Given the description of an element on the screen output the (x, y) to click on. 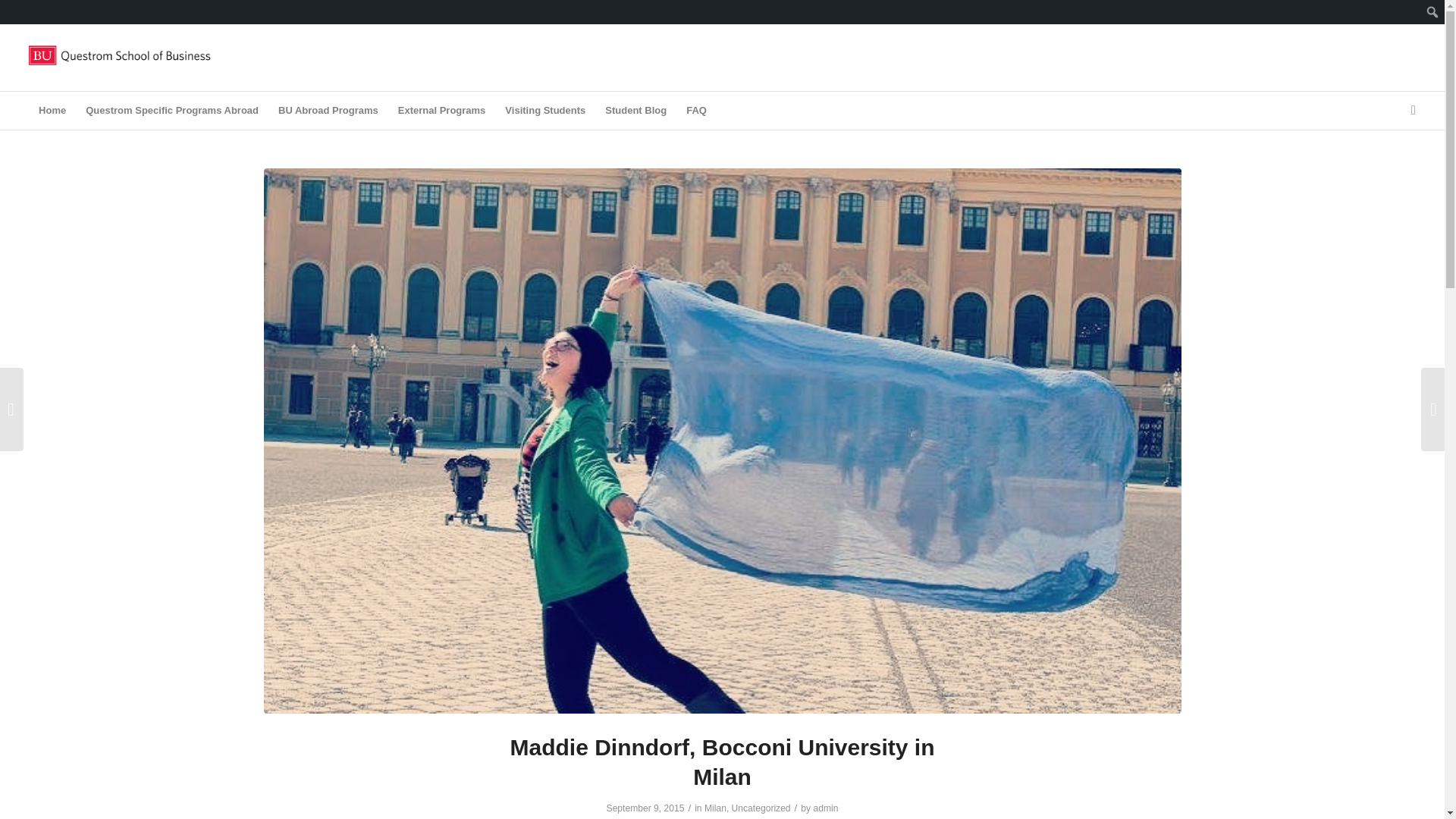
Questrom Specific Programs Abroad (171, 110)
Visiting Students (545, 110)
BU Abroad Programs (327, 110)
Student Blog (636, 110)
FAQ (696, 110)
Search (15, 12)
Milan (715, 808)
Uncategorized (761, 808)
Posts by admin (825, 808)
Home (52, 110)
admin (825, 808)
External Programs (442, 110)
